Given the description of an element on the screen output the (x, y) to click on. 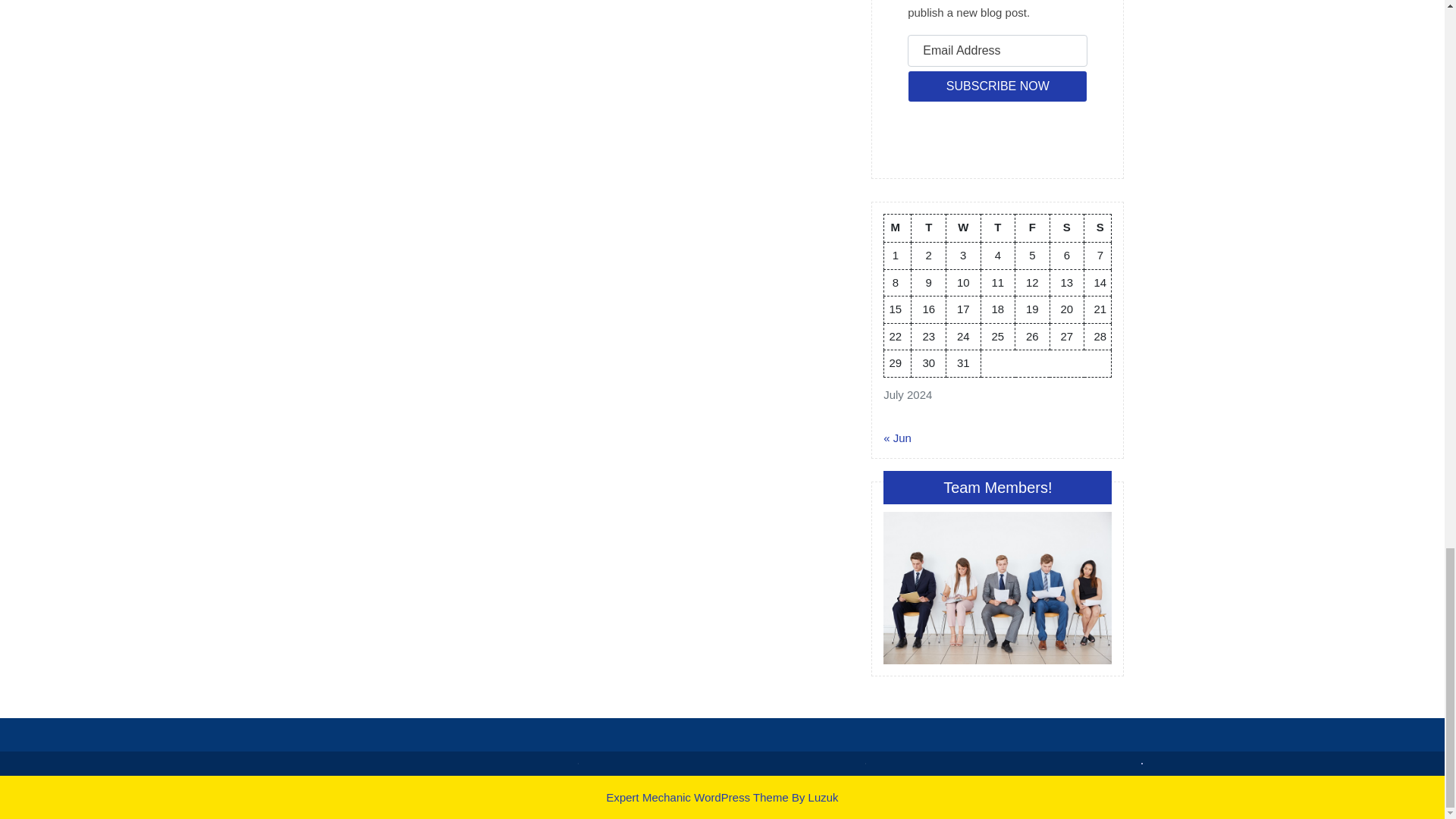
Thursday (996, 228)
Tuesday (928, 228)
Expert Mechanic WordPress Theme By Luzuk (721, 797)
Saturday (1066, 228)
Wednesday (963, 228)
SUBSCRIBE NOW (997, 86)
Sunday (1098, 228)
Monday (897, 228)
SUBSCRIBE NOW (997, 86)
Friday (1031, 228)
